Given the description of an element on the screen output the (x, y) to click on. 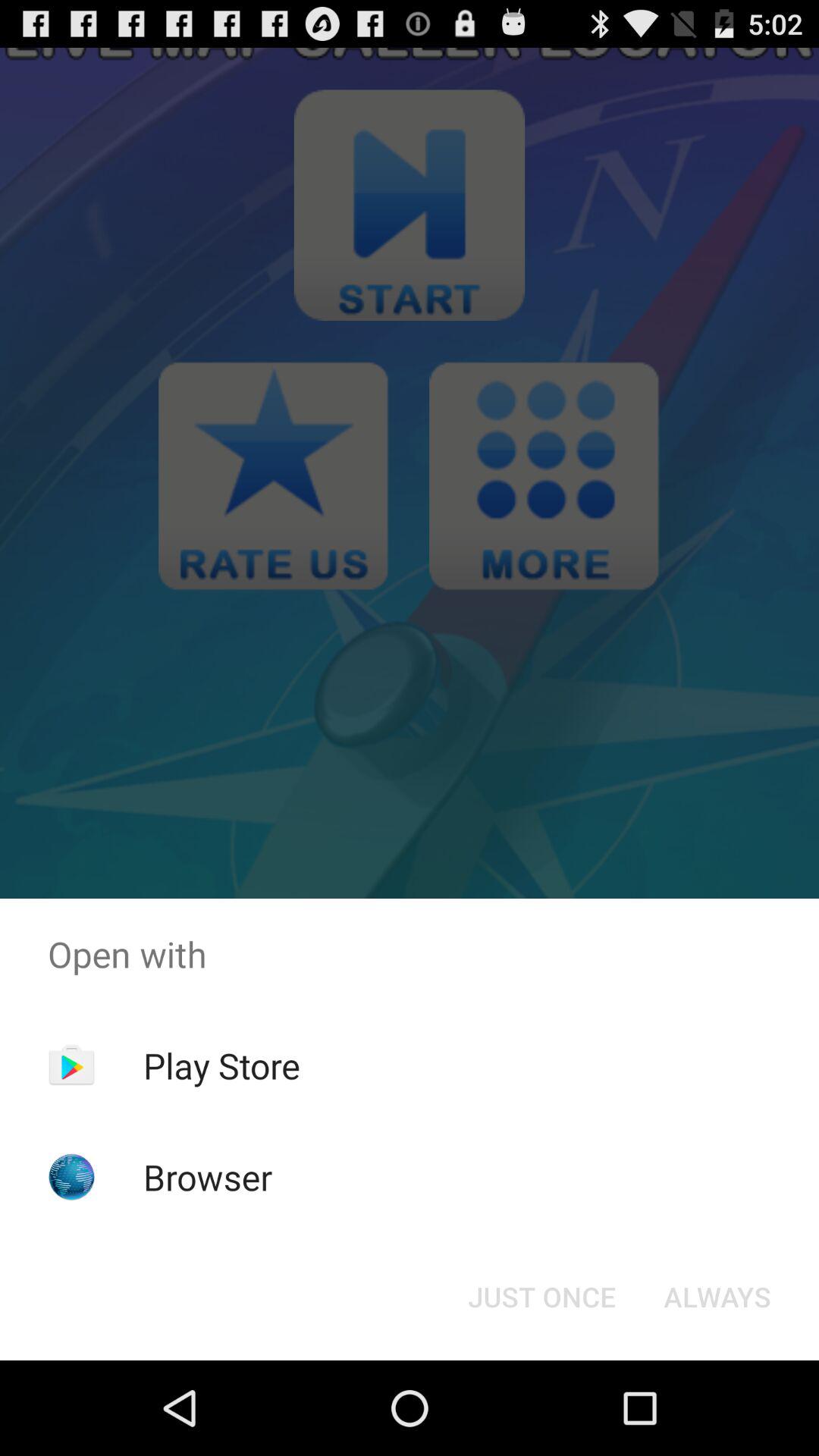
select the icon above browser icon (221, 1065)
